Given the description of an element on the screen output the (x, y) to click on. 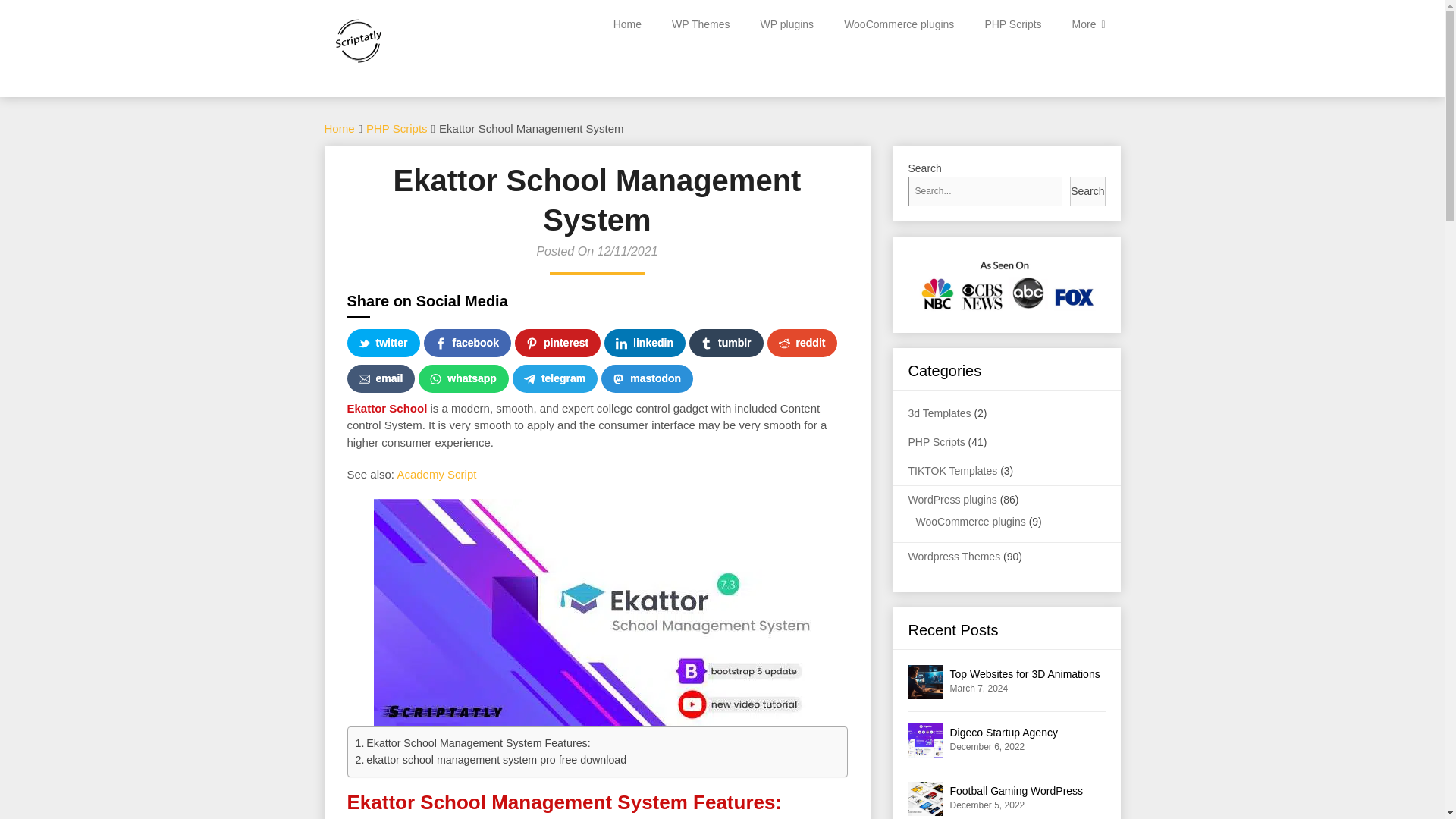
linkedin (644, 343)
Home (627, 24)
twitter (383, 343)
reddit (802, 343)
More (1089, 24)
PHP Scripts (397, 128)
Ekattor School Management System 1 (596, 612)
Permalink to Digeco Startup Agency WordPress Theme (1003, 740)
Home (339, 128)
WooCommerce plugins (898, 24)
